Given the description of an element on the screen output the (x, y) to click on. 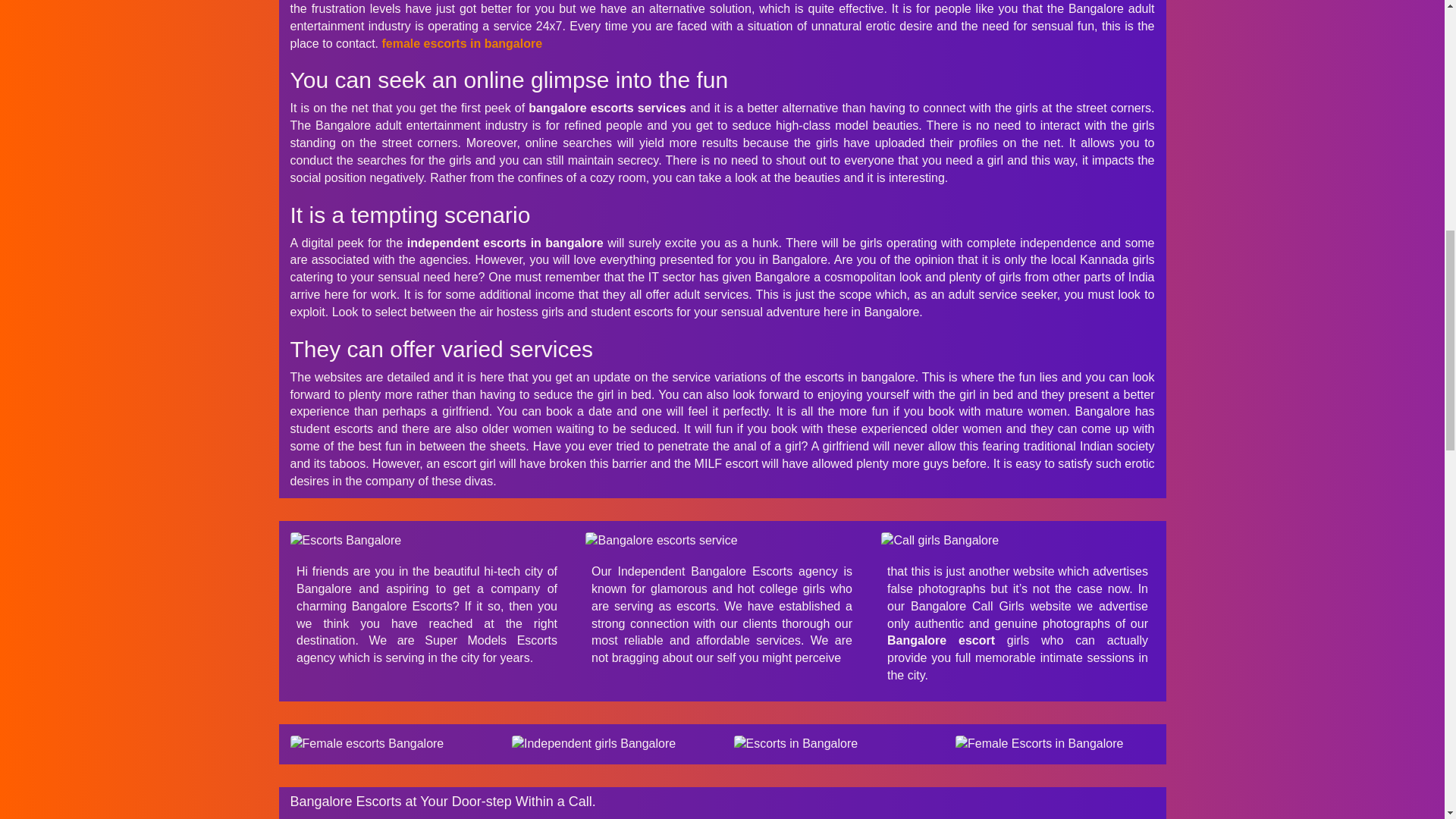
Bangalore escorts (1054, 743)
Bangalore escorts (389, 743)
female escorts in bangalore (461, 42)
Bangalore escorts (1017, 540)
Bangalore escorts (722, 540)
Bangalore escorts (425, 540)
Bangalore escorts (833, 743)
Bangalore escorts (611, 743)
